Given the description of an element on the screen output the (x, y) to click on. 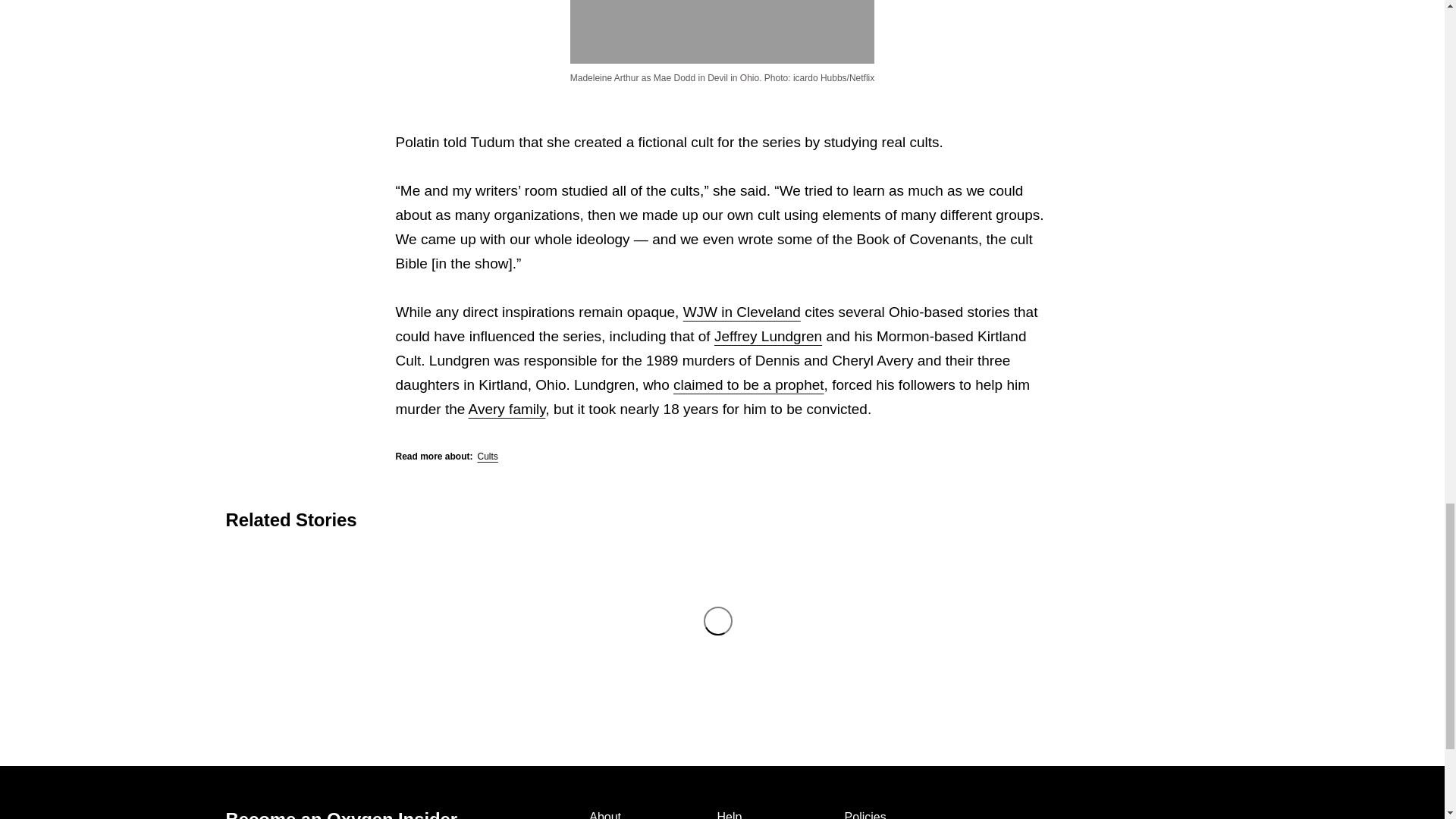
Cults (487, 456)
claimed to be a prophet (748, 384)
WJW in Cleveland (741, 311)
Avery family (507, 408)
Jeffrey Lundgren (768, 335)
